Given the description of an element on the screen output the (x, y) to click on. 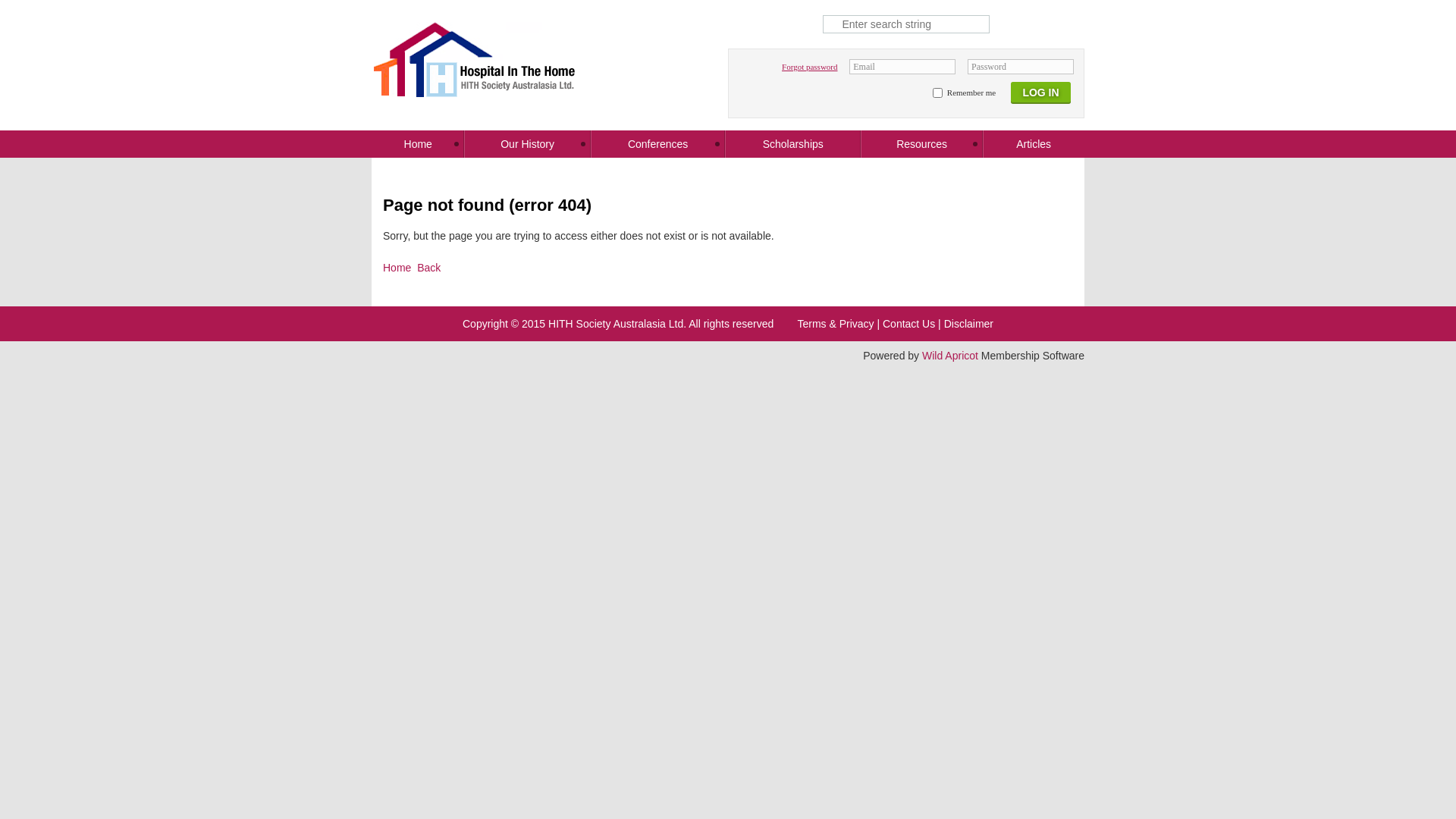
Resources Element type: text (921, 143)
Back Element type: text (428, 267)
Forgot password Element type: text (809, 66)
Wild Apricot Element type: text (950, 355)
Disclaimer Element type: text (968, 323)
Conferences Element type: text (657, 143)
Terms & Privacy Element type: text (835, 323)
Articles Element type: text (1033, 143)
Contact Us Element type: text (908, 323)
Home Element type: text (396, 267)
Scholarships Element type: text (792, 143)
Our History Element type: text (526, 143)
Home Element type: text (417, 143)
Log in Element type: text (1040, 95)
